Given the description of an element on the screen output the (x, y) to click on. 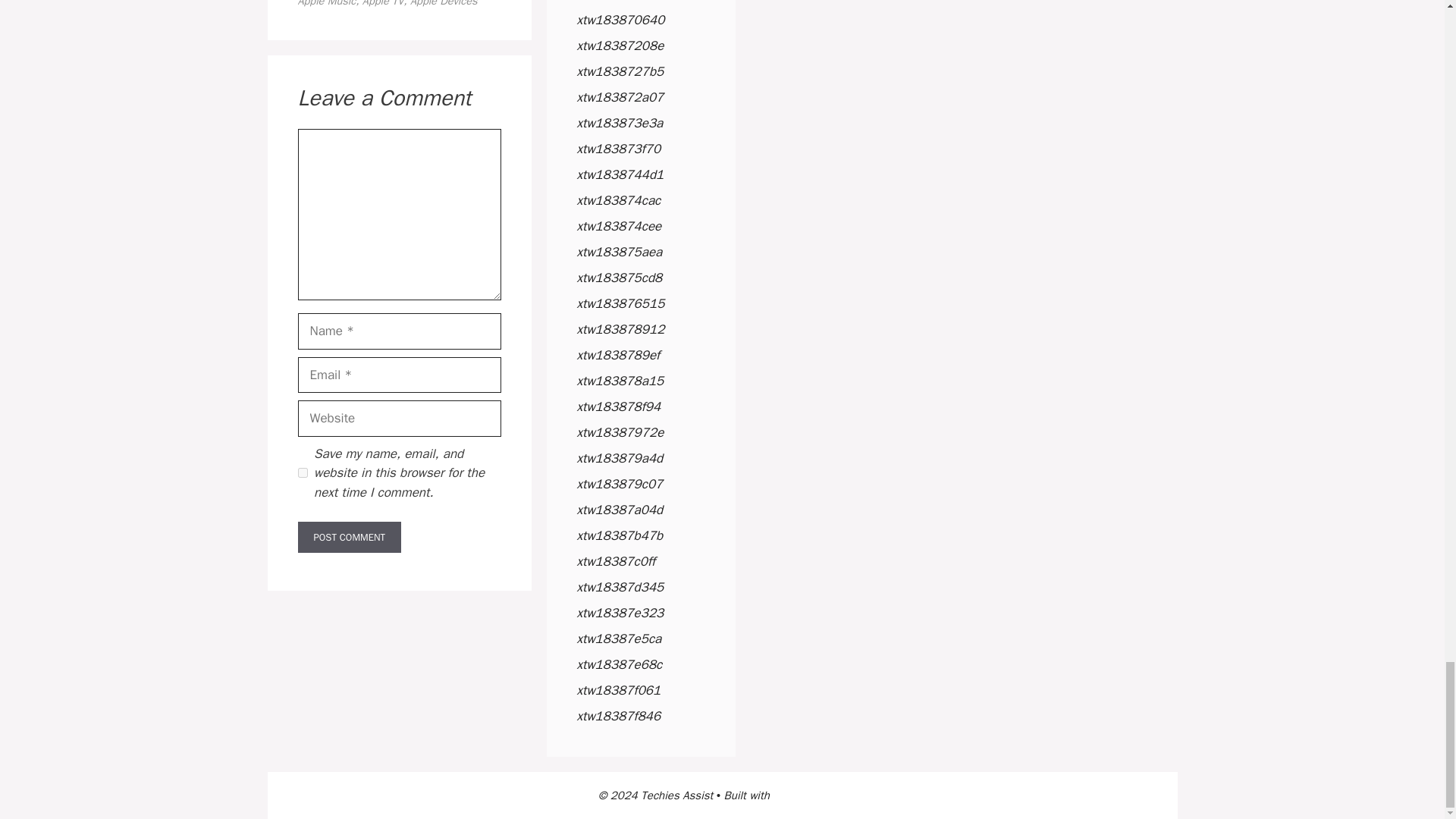
Post Comment (349, 537)
yes (302, 472)
Post Comment (349, 537)
